Given the description of an element on the screen output the (x, y) to click on. 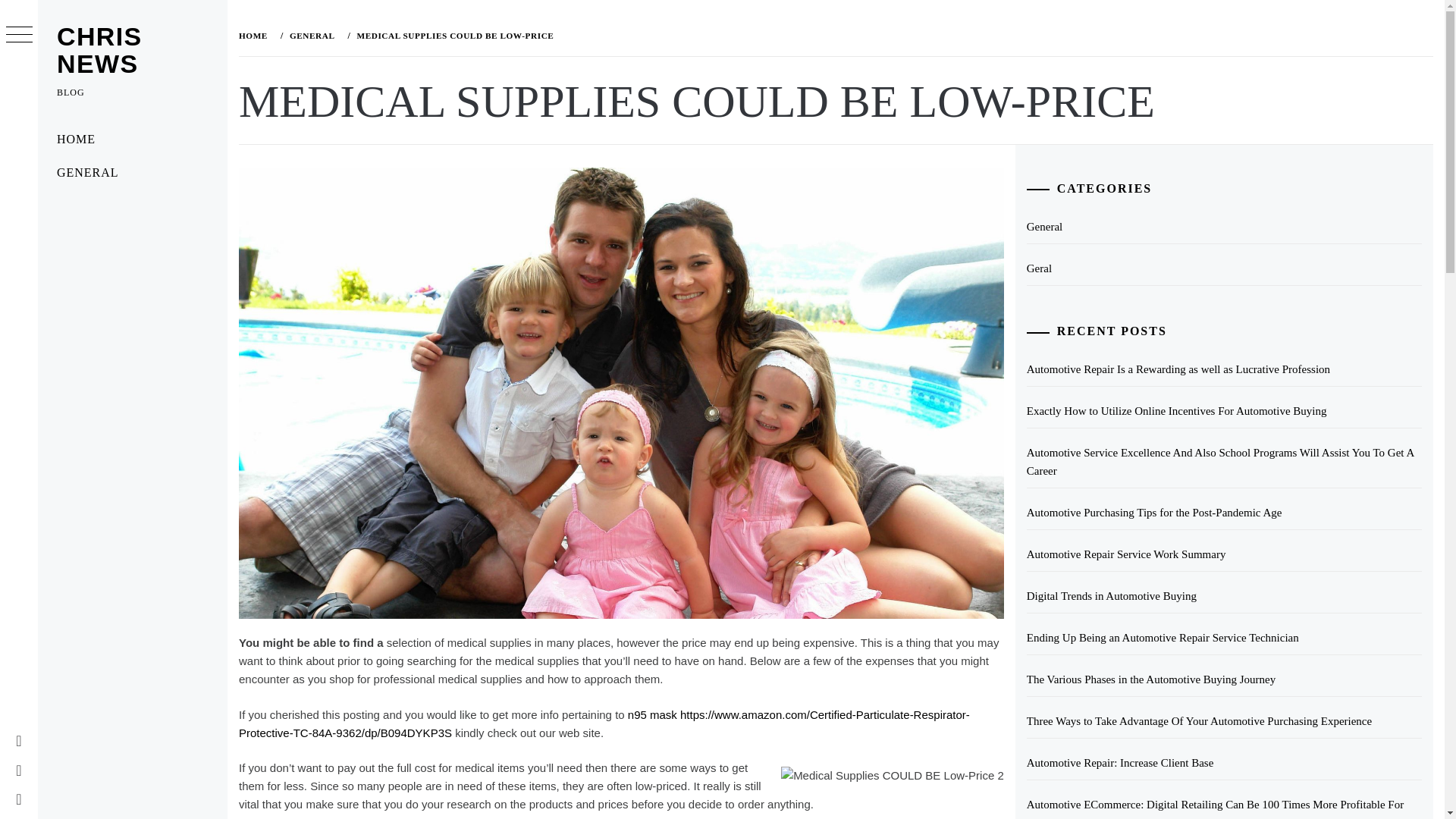
GENERAL (310, 35)
Digital Trends in Automotive Buying (1224, 596)
GENERAL (132, 172)
General (1224, 226)
HOME (255, 35)
Automotive Purchasing Tips for the Post-Pandemic Age (1224, 512)
MEDICAL SUPPLIES COULD BE LOW-PRICE (453, 35)
CHRIS NEWS (99, 49)
Automotive Repair Service Work Summary (1224, 554)
Geral (1224, 268)
HOME (132, 139)
